Given the description of an element on the screen output the (x, y) to click on. 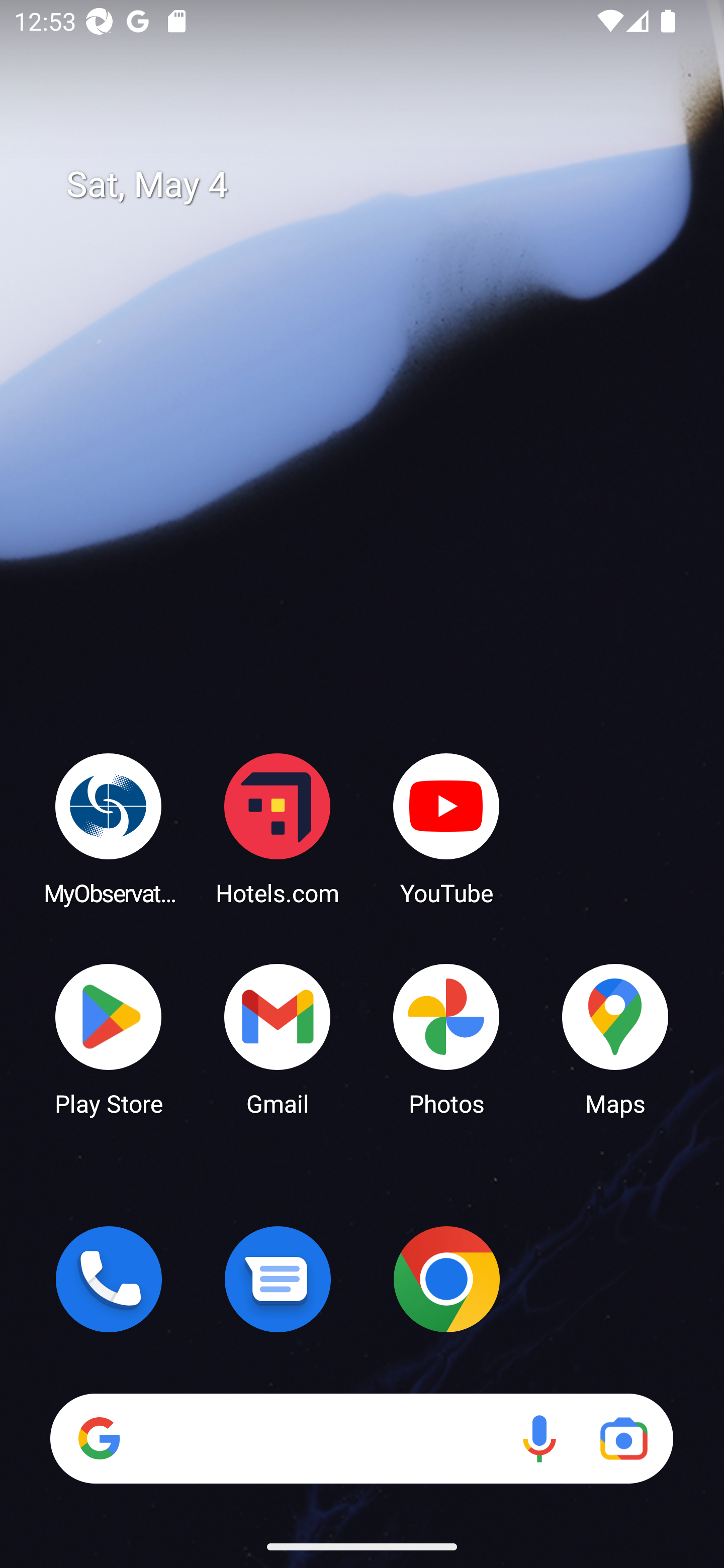
Sat, May 4 (375, 184)
MyObservatory (108, 828)
Hotels.com (277, 828)
YouTube (445, 828)
Play Store (108, 1038)
Gmail (277, 1038)
Photos (445, 1038)
Maps (615, 1038)
Phone (108, 1279)
Messages (277, 1279)
Chrome (446, 1279)
Search Voice search Google Lens (361, 1438)
Voice search (539, 1438)
Google Lens (623, 1438)
